Given the description of an element on the screen output the (x, y) to click on. 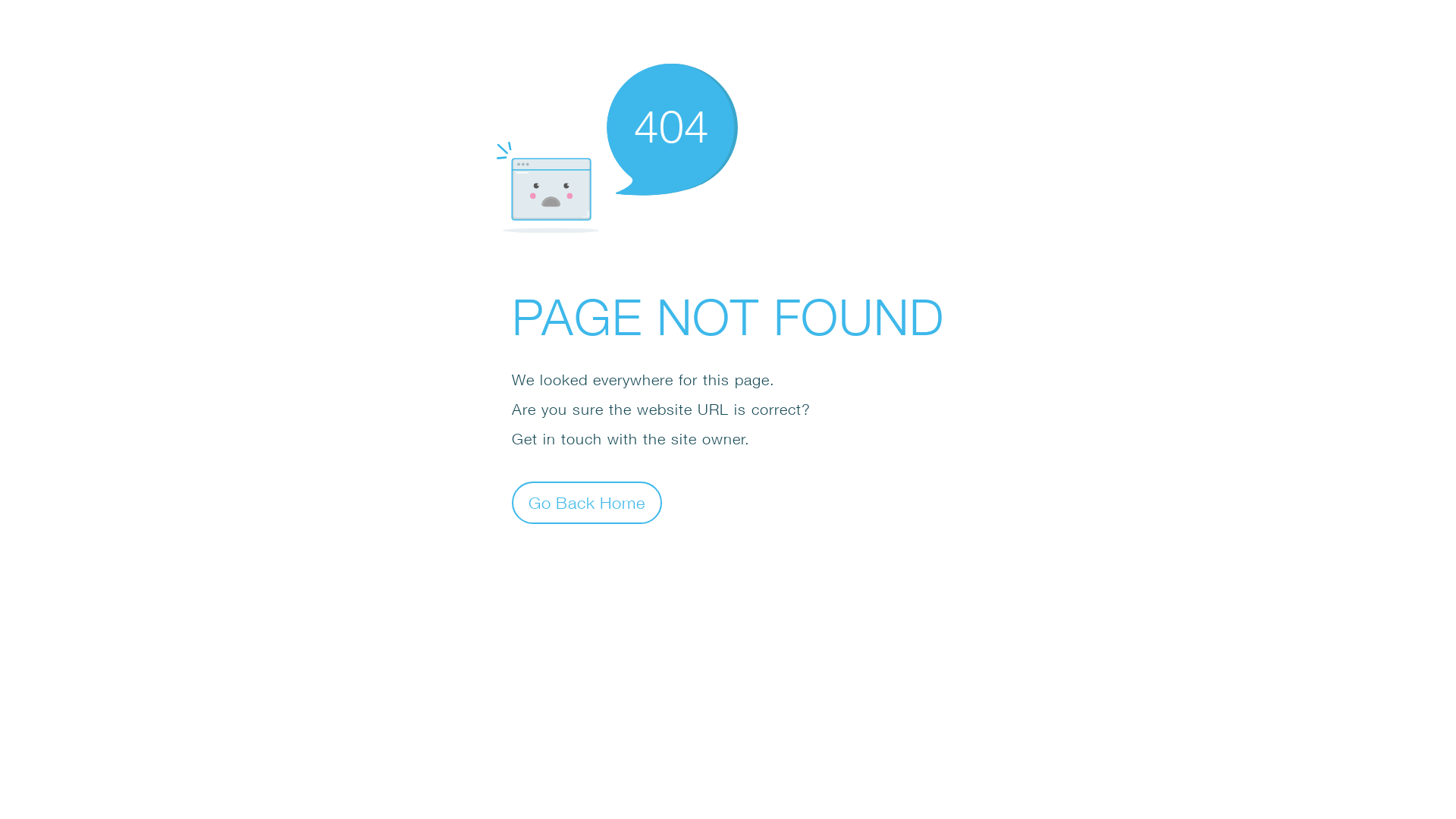
Go Back Home Element type: text (586, 502)
